Given the description of an element on the screen output the (x, y) to click on. 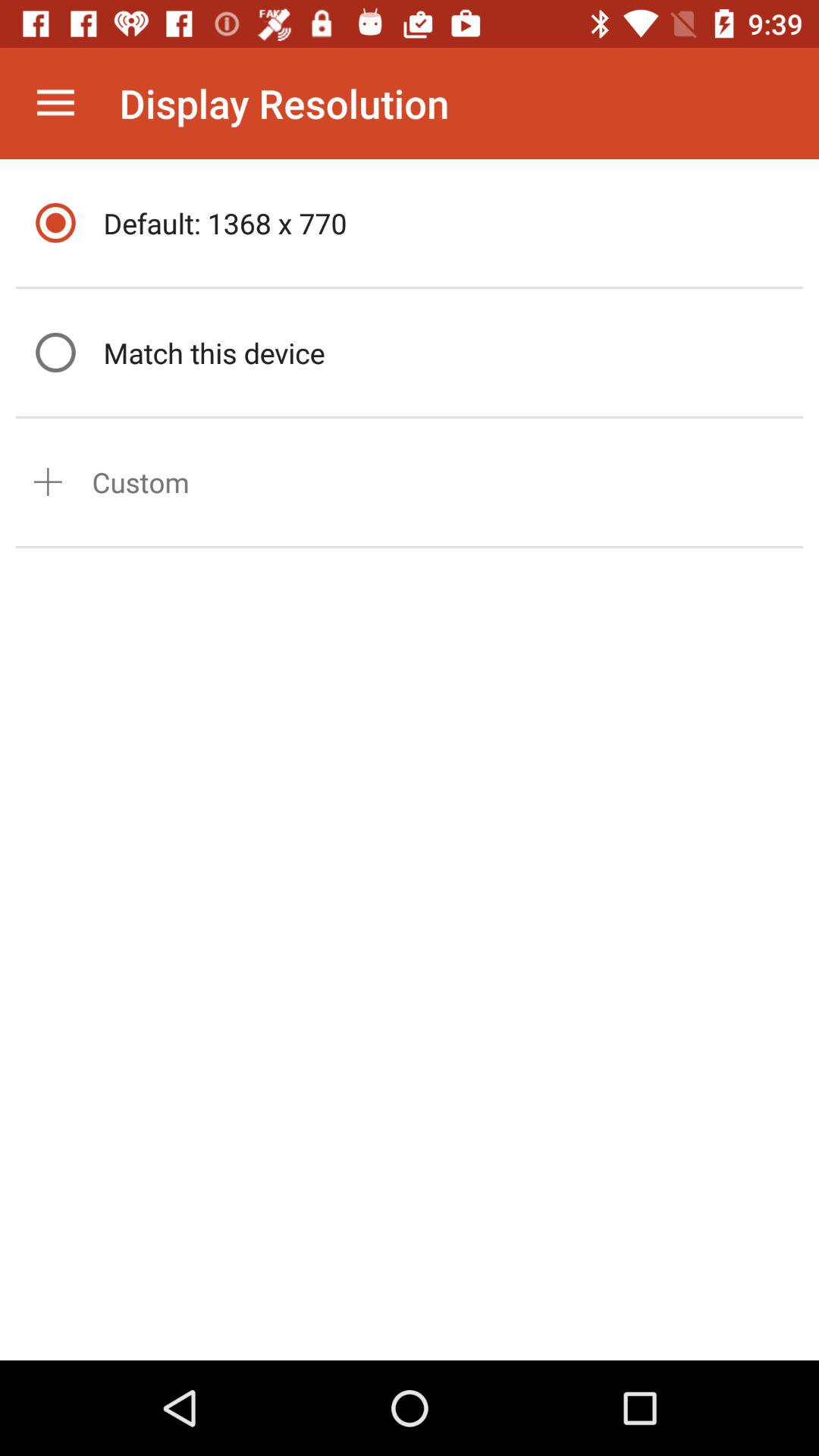
tap item next to custom icon (47, 481)
